Given the description of an element on the screen output the (x, y) to click on. 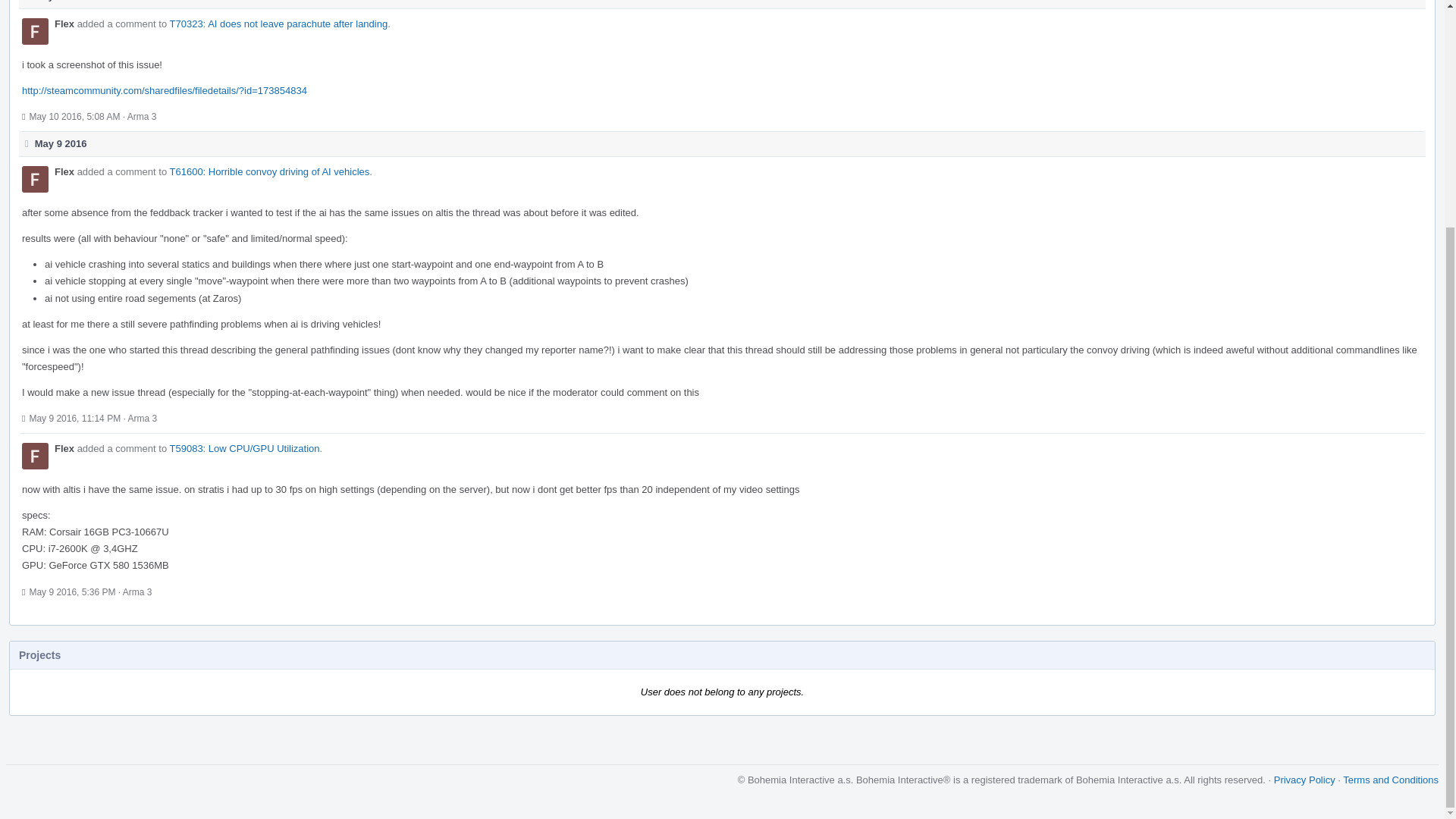
May 9 2016, 11:14 PM (74, 418)
Privacy Policy (1304, 779)
Flex (64, 23)
Flex (64, 448)
T61600: Horrible convoy driving of AI vehicles (269, 171)
Arma 3 (142, 418)
May 9 2016, 5:36 PM (72, 591)
May 10 2016, 5:08 AM (74, 116)
Arma 3 (137, 591)
Terms and Conditions (1390, 779)
